Given the description of an element on the screen output the (x, y) to click on. 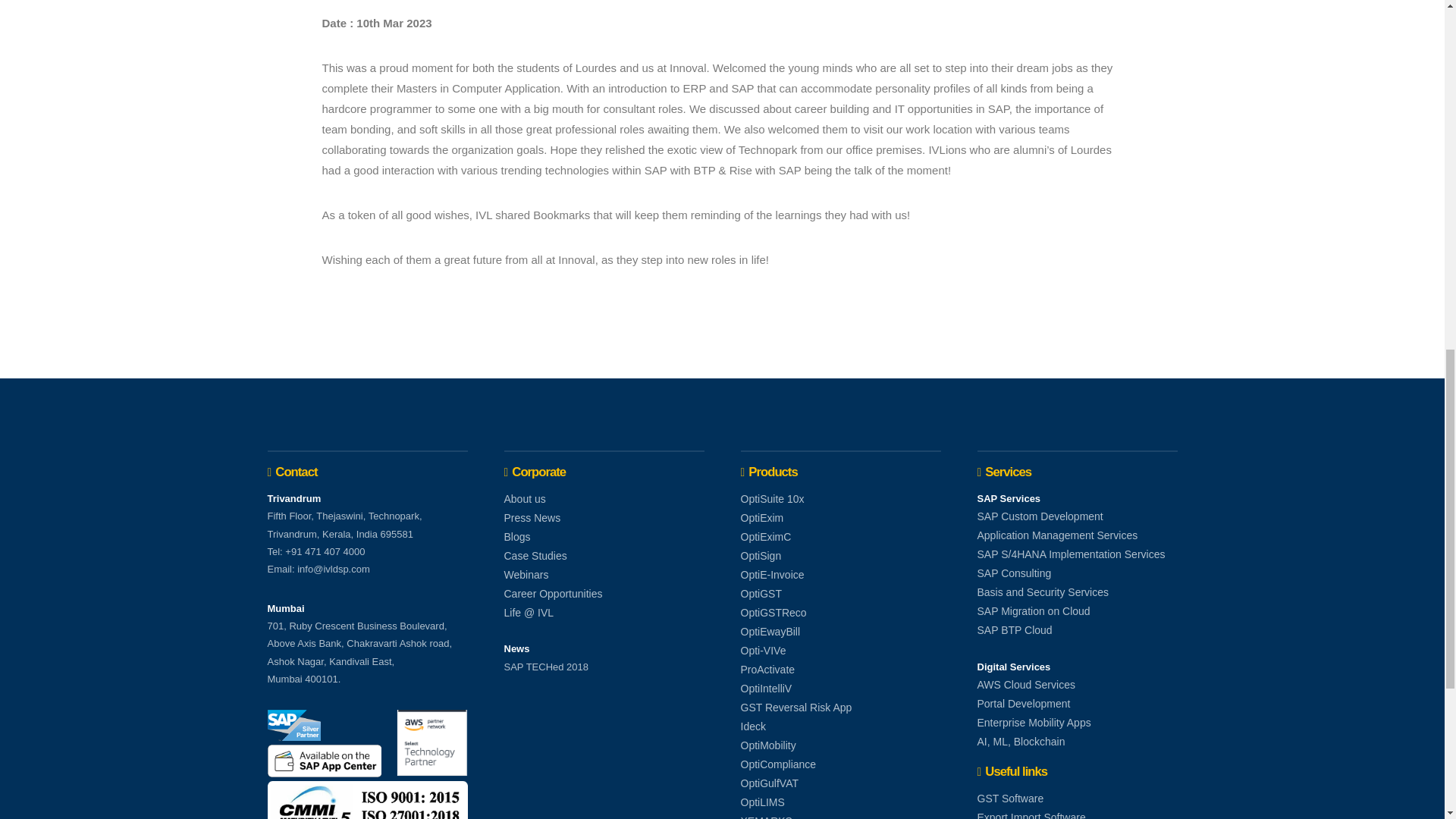
Blogs (516, 536)
Press News (531, 517)
About us (523, 498)
